Given the description of an element on the screen output the (x, y) to click on. 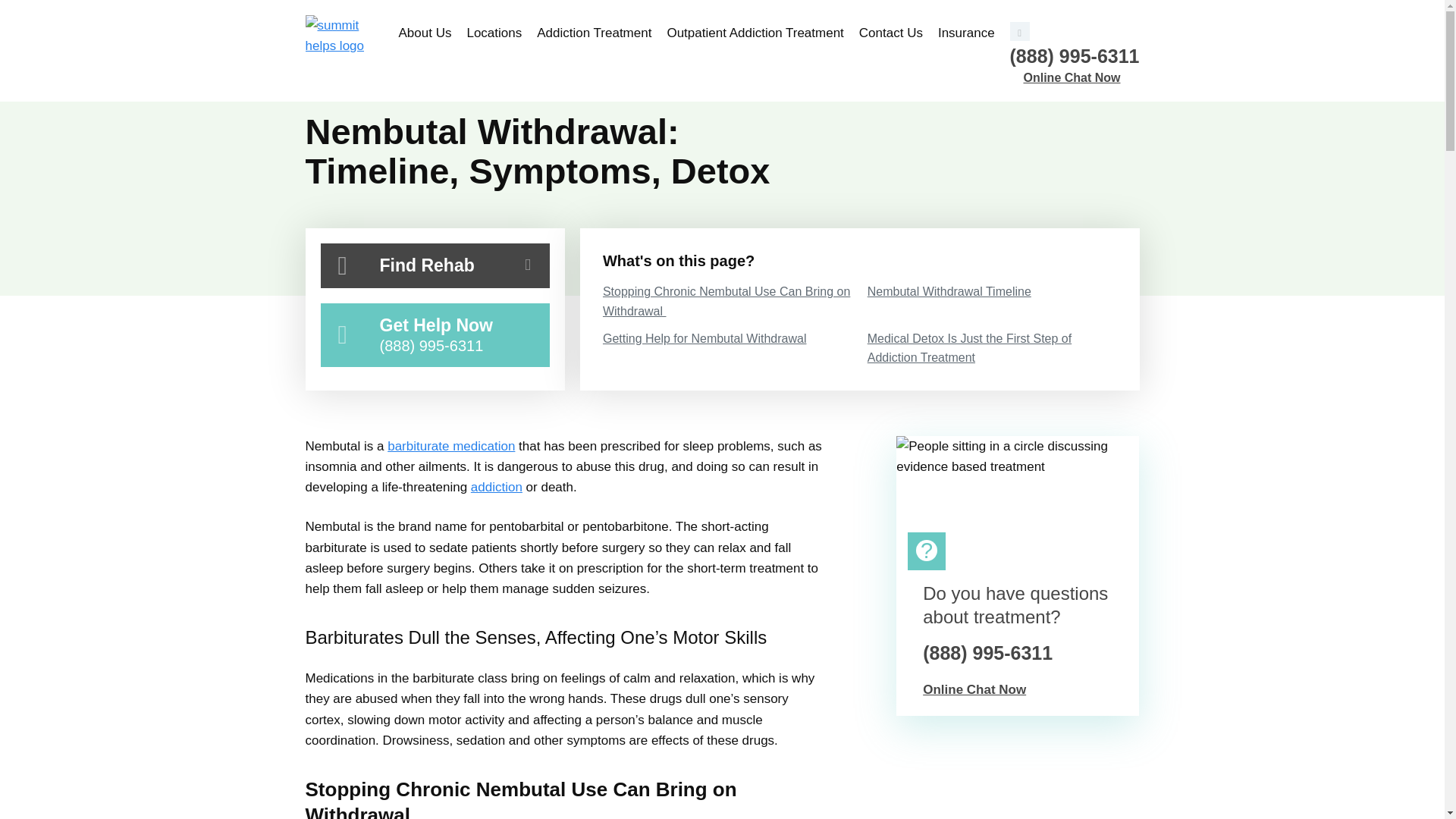
About Us (429, 33)
Online Chat Now (1081, 77)
Nembutal Withdrawal Timeline (992, 291)
Find Rehab (434, 265)
Stopping Chronic Nembutal Use Can Bring on Withdrawal  (727, 301)
Locations (493, 33)
Contact Us (890, 33)
Outpatient Addiction Treatment (754, 33)
About Us (429, 33)
Insurance (962, 33)
